Given the description of an element on the screen output the (x, y) to click on. 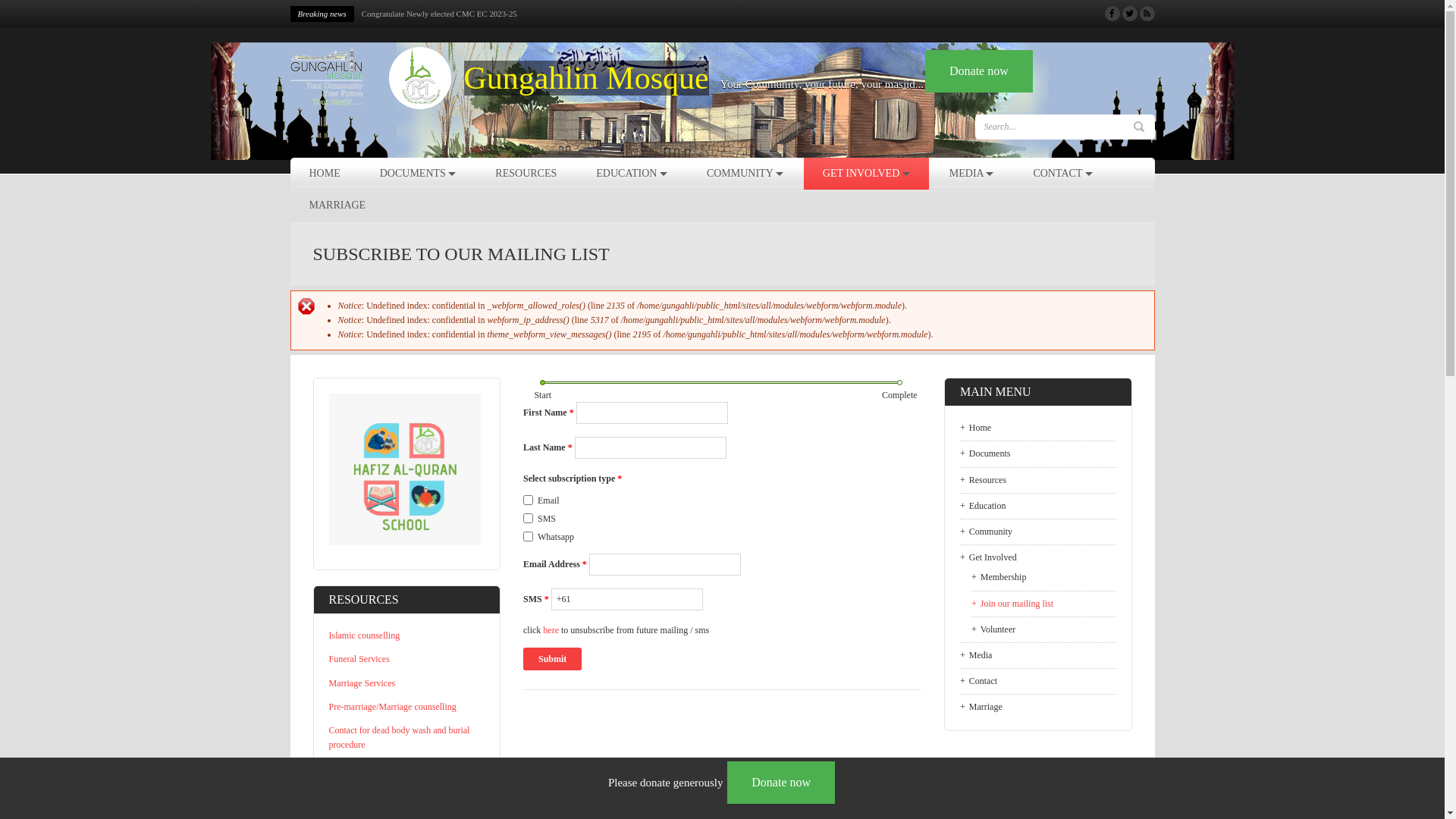
Marriage Services Element type: text (362, 682)
Donate now Element type: text (978, 71)
Hajj Information Element type: text (359, 792)
Home Element type: hover (370, 78)
CMC Election Result 2023 Element type: text (406, 13)
Home Element type: text (1038, 427)
Contact Element type: text (1038, 680)
Contact for dead body wash and burial procedure Element type: text (399, 736)
Skip to main content Element type: text (37, 0)
RSS Element type: hover (1146, 13)
Resources Element type: text (1038, 479)
COMMUNITY Element type: text (744, 173)
Islamic counselling Element type: text (364, 635)
CONTACT Element type: text (1061, 173)
Community Element type: text (1038, 531)
here Element type: text (550, 629)
HOME Element type: text (323, 173)
Enter the terms you wish to search for. Element type: hover (1055, 126)
MARRIAGE Element type: text (336, 205)
Media Element type: text (1038, 655)
RESOURCES Element type: text (525, 173)
Documents Element type: text (1038, 453)
EDUCATION Element type: text (631, 173)
Submit Element type: text (552, 658)
Congratulate Newly elected CMC EC 2023-25 Element type: text (439, 13)
Gungahlin Mosque Element type: text (586, 77)
Membership Element type: text (1043, 576)
Pre-marriage/Marriage counselling Element type: text (392, 706)
Hajj Muslim Certificate Element type: text (372, 767)
Donate now Element type: text (780, 782)
GET INVOLVED Element type: text (865, 173)
Get Involved Element type: text (1038, 557)
MEDIA Element type: text (971, 173)
Join our mailing list Element type: text (1043, 603)
DOCUMENTS Element type: text (417, 173)
Search Element type: text (1138, 126)
Funeral Services Element type: text (359, 658)
Facebook Element type: hover (1111, 13)
Education Element type: text (1038, 505)
Marriage Element type: text (1038, 704)
Volunteer Element type: text (1043, 629)
Twitter Element type: hover (1129, 13)
